Given the description of an element on the screen output the (x, y) to click on. 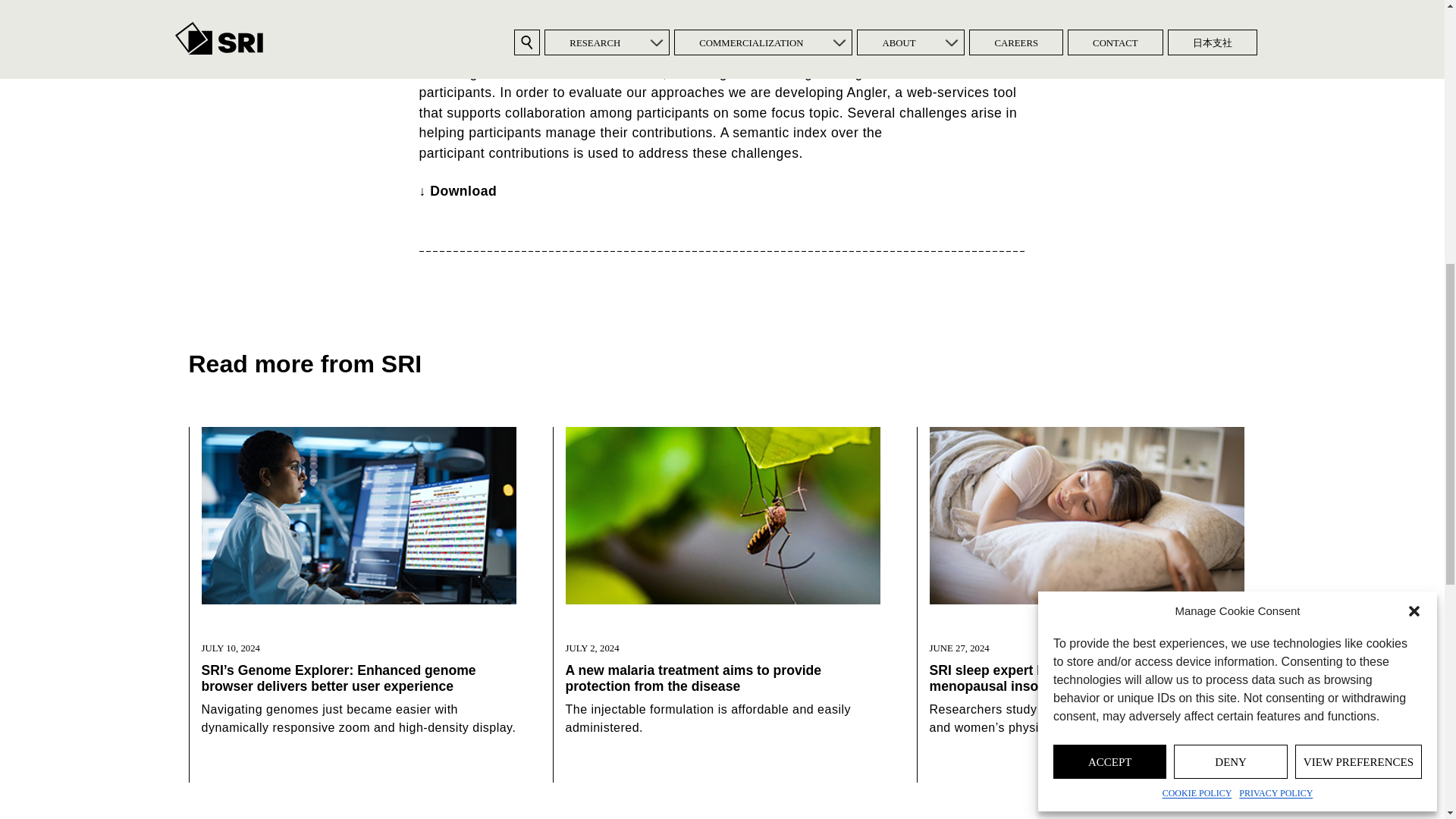
ACCEPT (1109, 114)
DENY (1230, 114)
VIEW PREFERENCES (1358, 114)
COOKIE POLICY (1196, 146)
PRIVACY POLICY (1276, 146)
